Given the description of an element on the screen output the (x, y) to click on. 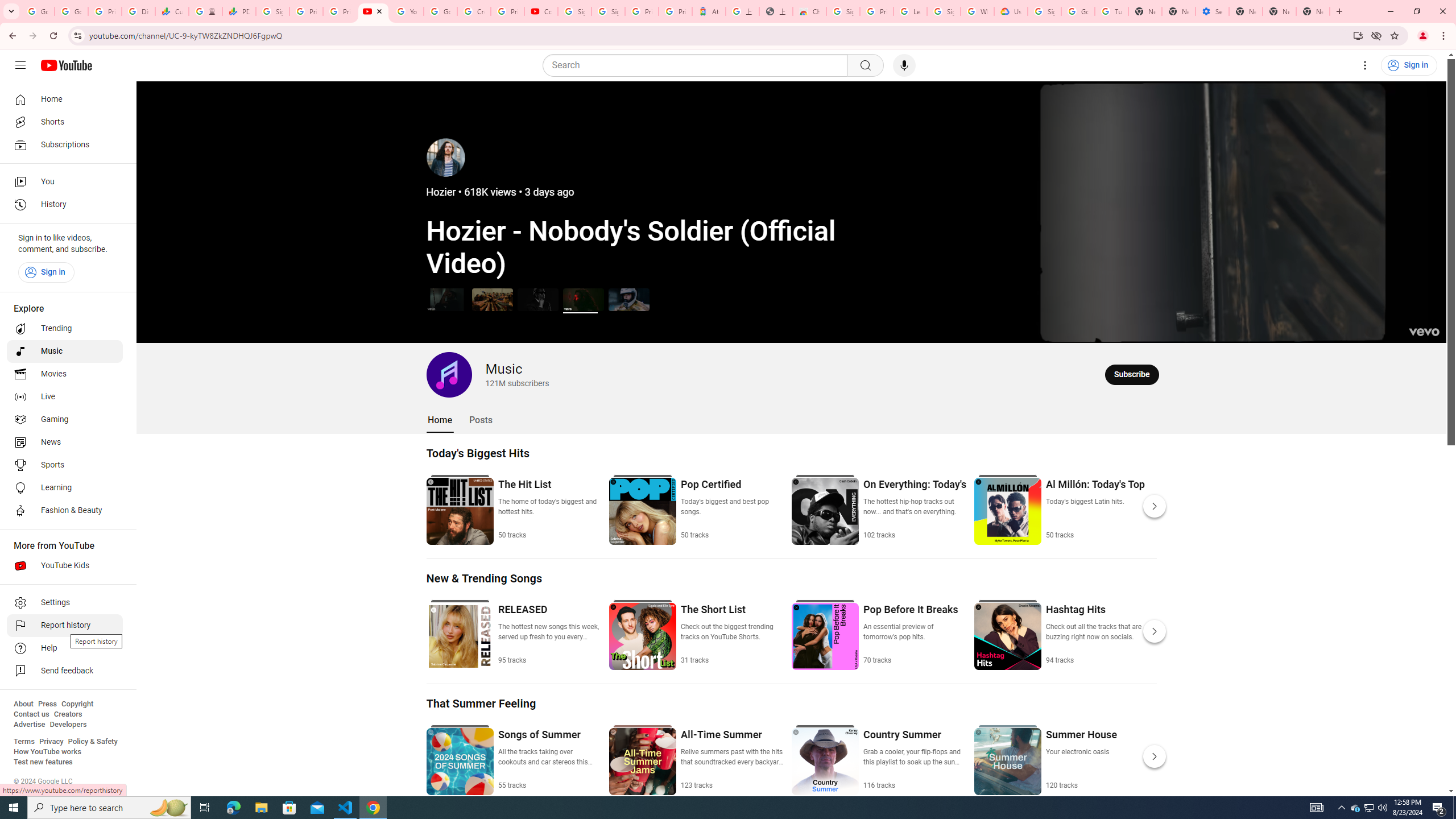
Copyright (77, 703)
Currencies - Google Finance (171, 11)
A$AP Rocky - HIGHJACK (Official Video) (537, 299)
Gaming (64, 419)
Report history (64, 625)
Chrome Web Store (809, 11)
PDD Holdings Inc - ADR (PDD) Price & News - Google Finance (238, 11)
